Given the description of an element on the screen output the (x, y) to click on. 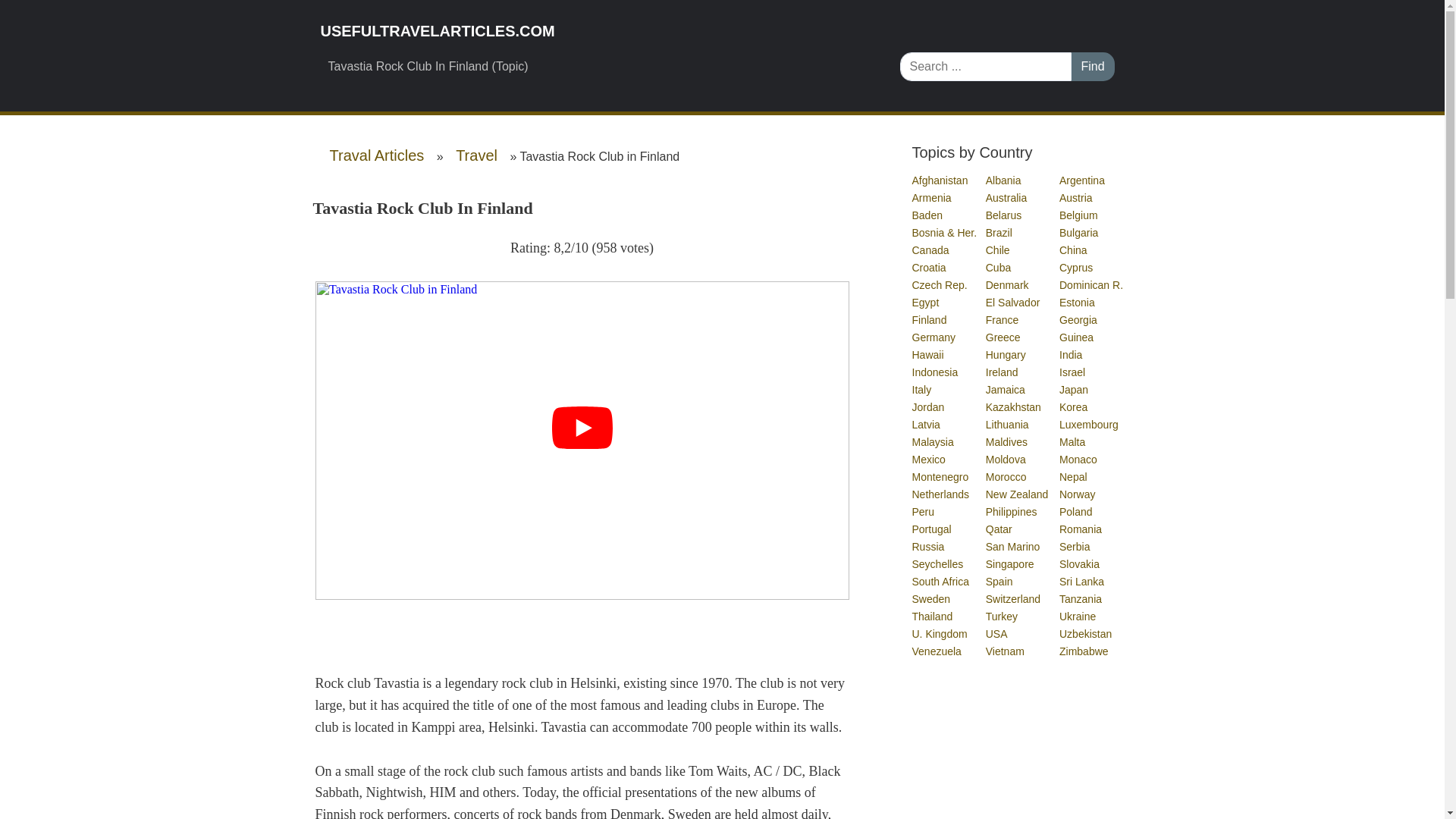
Albania (1004, 180)
Belarus (1004, 215)
USEFULTRAVELARTICLES.COM (598, 31)
France (1002, 319)
Germany (933, 337)
Croatia (929, 267)
El Salvador (1013, 302)
Armenia (931, 197)
Argentina (1082, 180)
Traval Articles (376, 155)
